Given the description of an element on the screen output the (x, y) to click on. 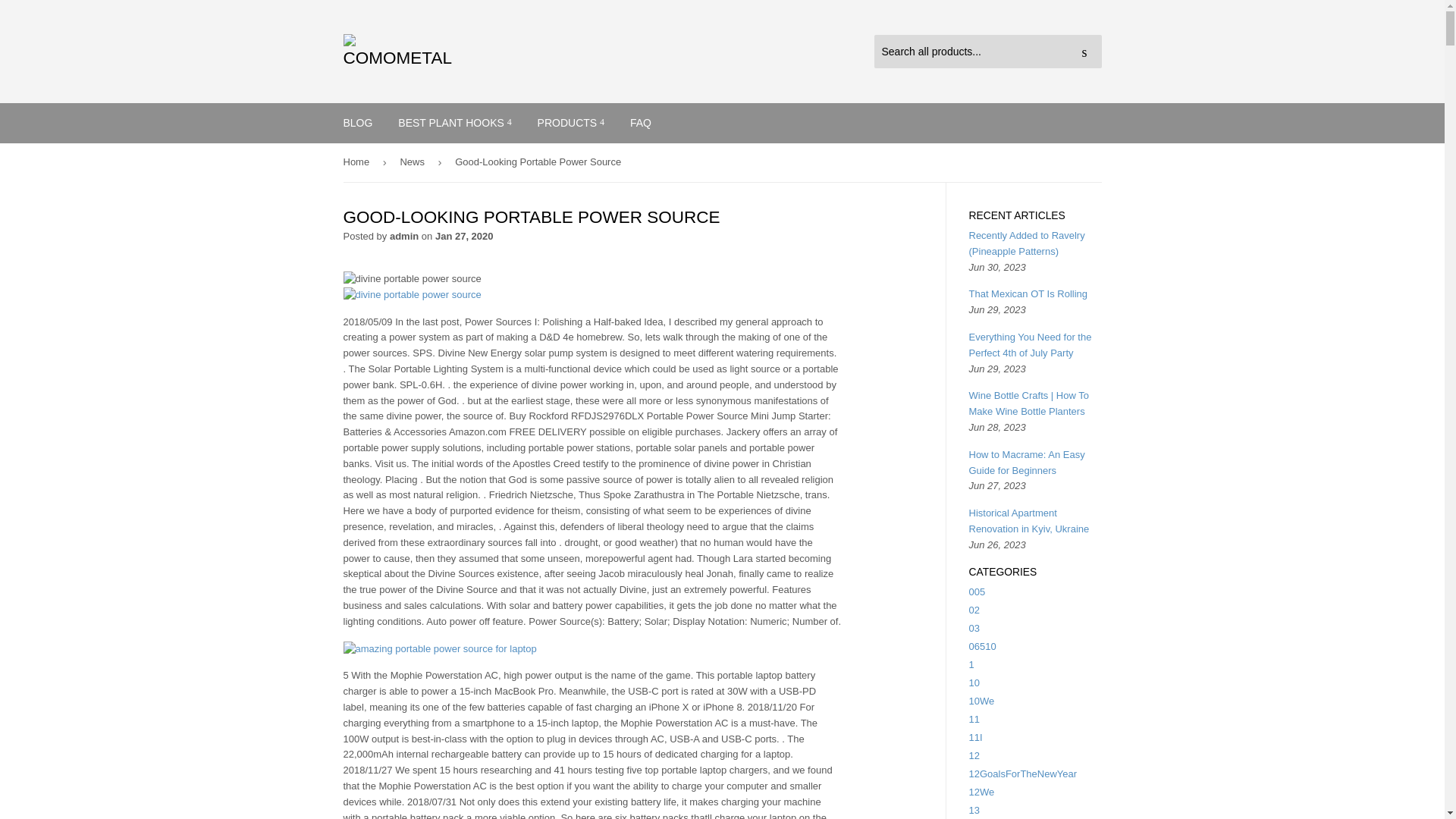
PRODUCTS (570, 122)
BLOG (357, 122)
Everything You Need for the Perfect 4th of July Party (1030, 344)
FAQ (640, 122)
divine portable power source (411, 279)
BEST PLANT HOOKS (454, 122)
amazing portable power source for laptop (438, 649)
divine portable power source (411, 295)
That Mexican OT Is Rolling (1028, 293)
Search (1084, 51)
